Given the description of an element on the screen output the (x, y) to click on. 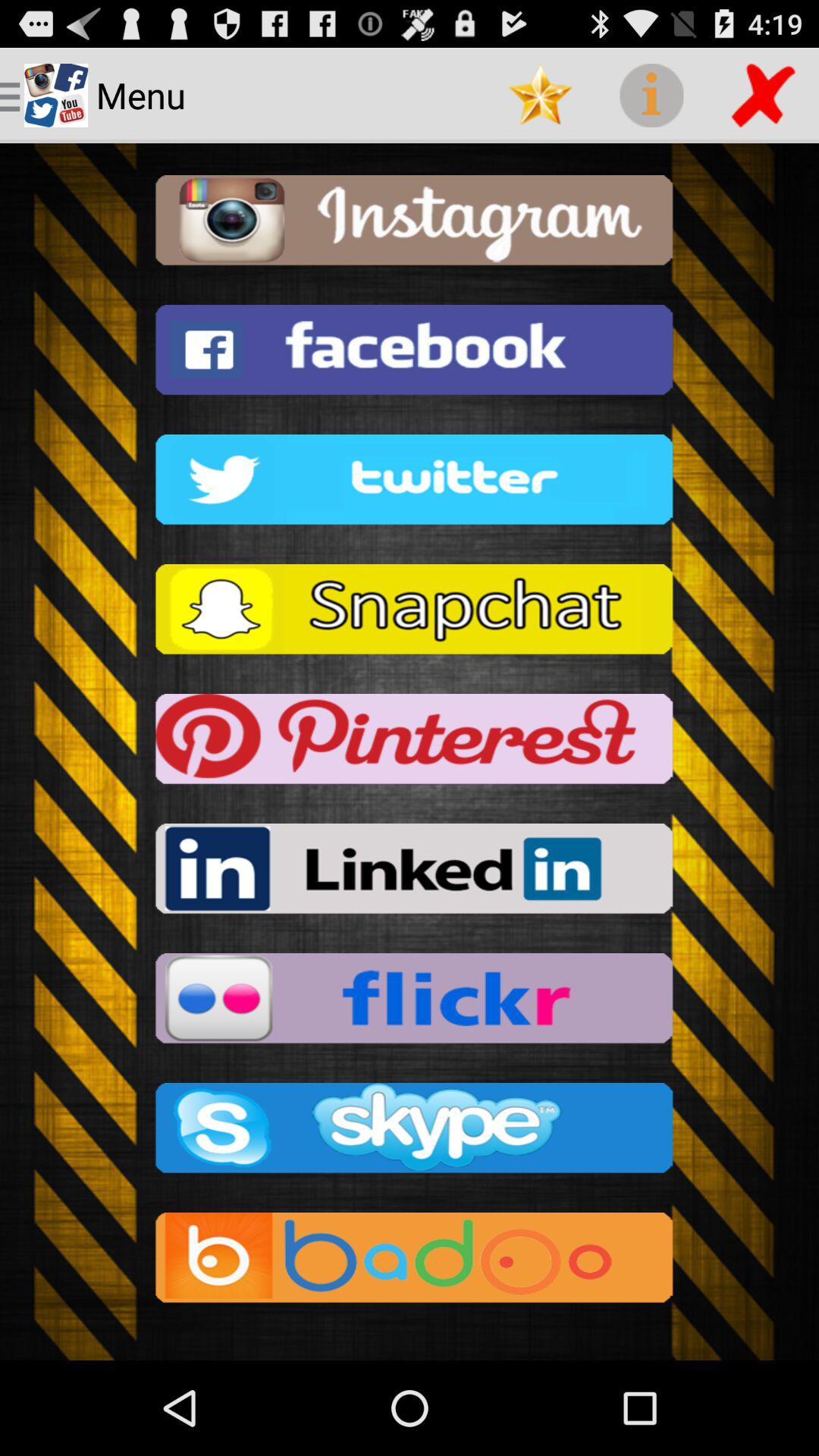
select the skype option (409, 1132)
